Given the description of an element on the screen output the (x, y) to click on. 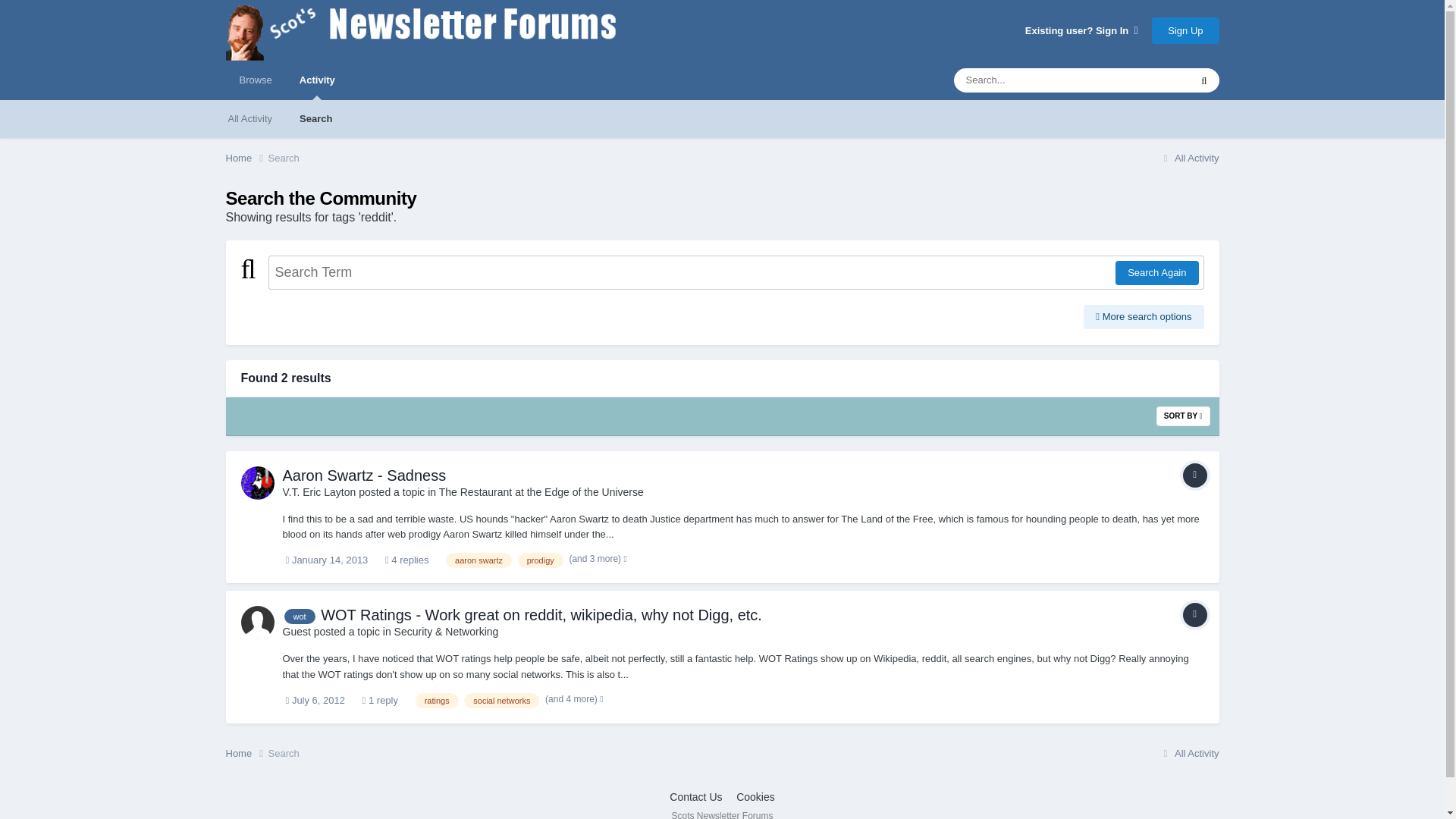
Home (246, 158)
Topic (1194, 614)
Search (283, 157)
More search options (1143, 316)
Activity (317, 79)
Find other content tagged with 'social networks' (501, 700)
Topic (1194, 475)
Browse (255, 79)
Find other content tagged with 'wot' (298, 616)
Find other content tagged with 'ratings' (436, 700)
Find other content tagged with 'prodigy' (540, 560)
Find other content tagged with 'aaron swartz' (478, 560)
All Activity (1188, 157)
Search (315, 118)
Search Again (1156, 273)
